Given the description of an element on the screen output the (x, y) to click on. 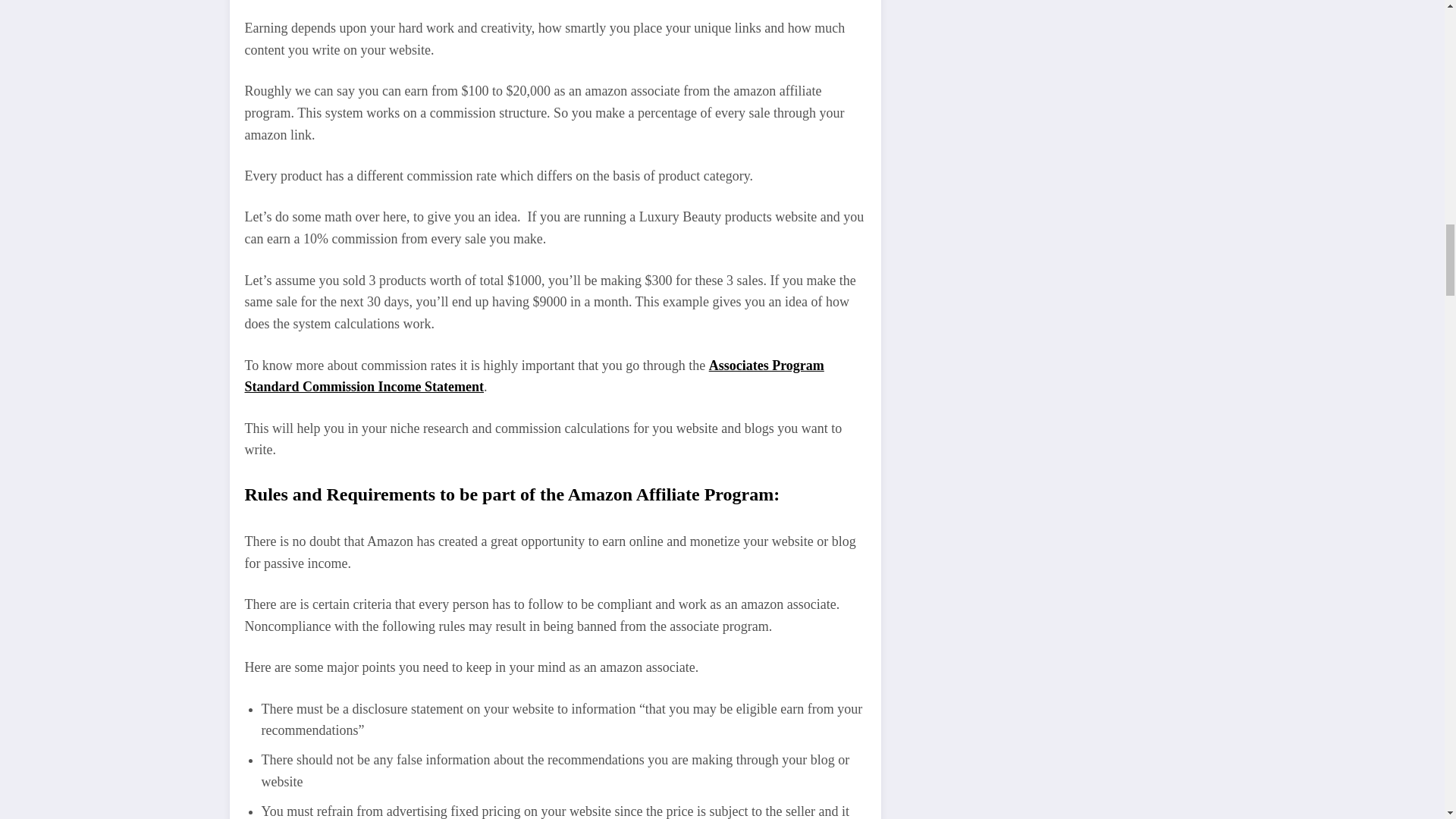
Associates Program Standard Commission Income Statement (534, 375)
